Given the description of an element on the screen output the (x, y) to click on. 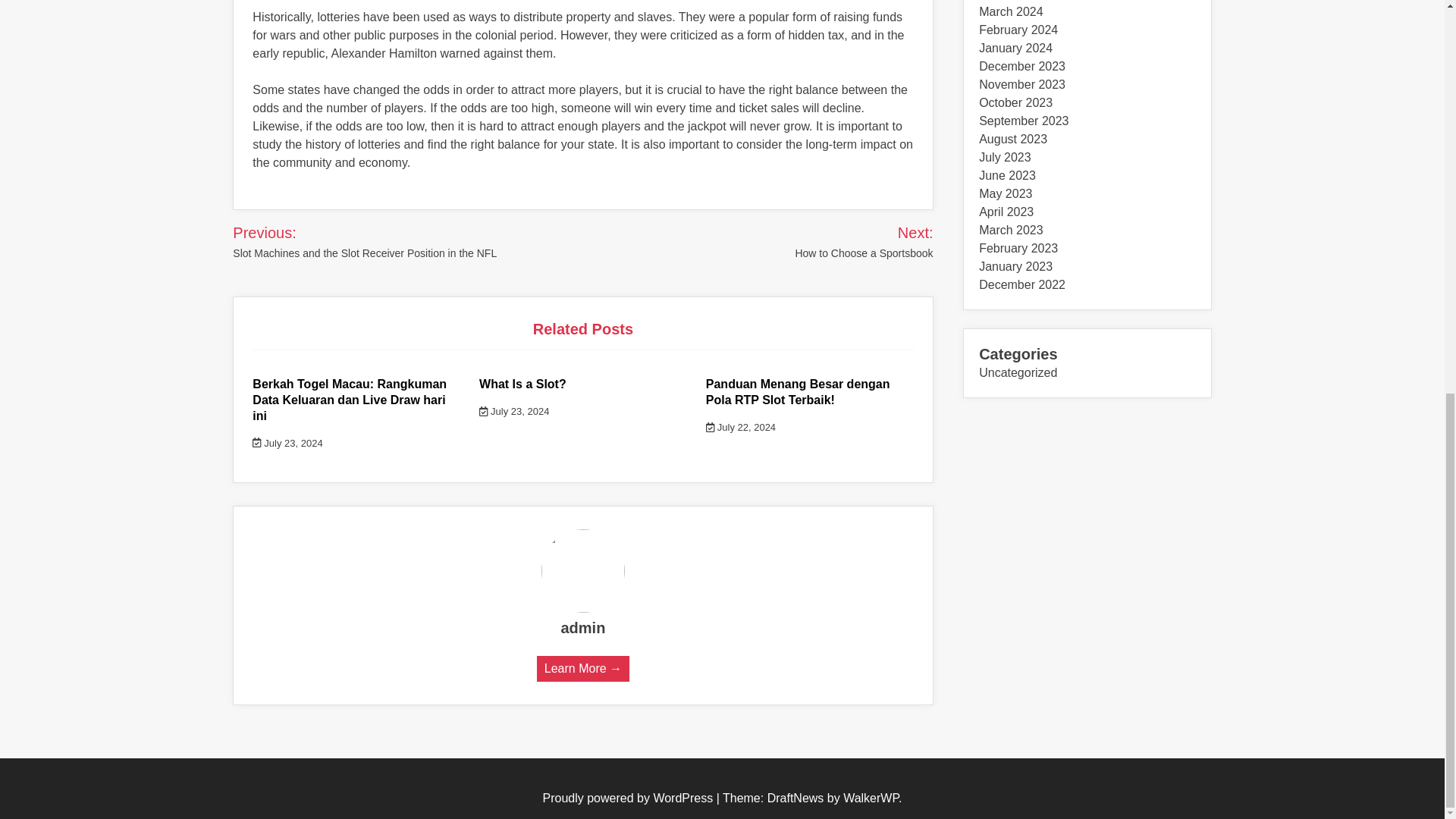
July 23, 2024 (286, 442)
July 22, 2024 (741, 427)
Next: How to Choose a Sportsbook (844, 241)
What Is a Slot? (522, 383)
Panduan Menang Besar dengan Pola RTP Slot Terbaik! (797, 391)
July 23, 2024 (513, 410)
